Given the description of an element on the screen output the (x, y) to click on. 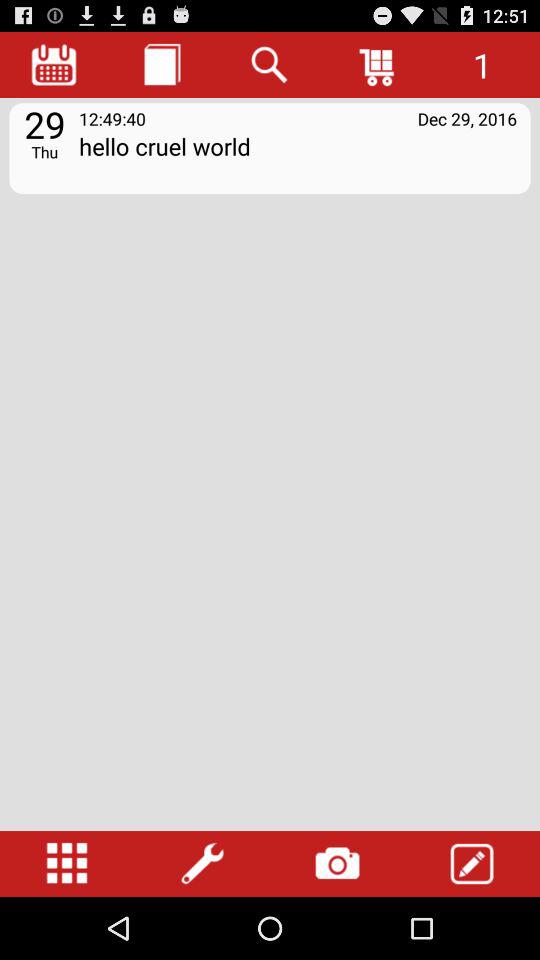
large icons (67, 863)
